Given the description of an element on the screen output the (x, y) to click on. 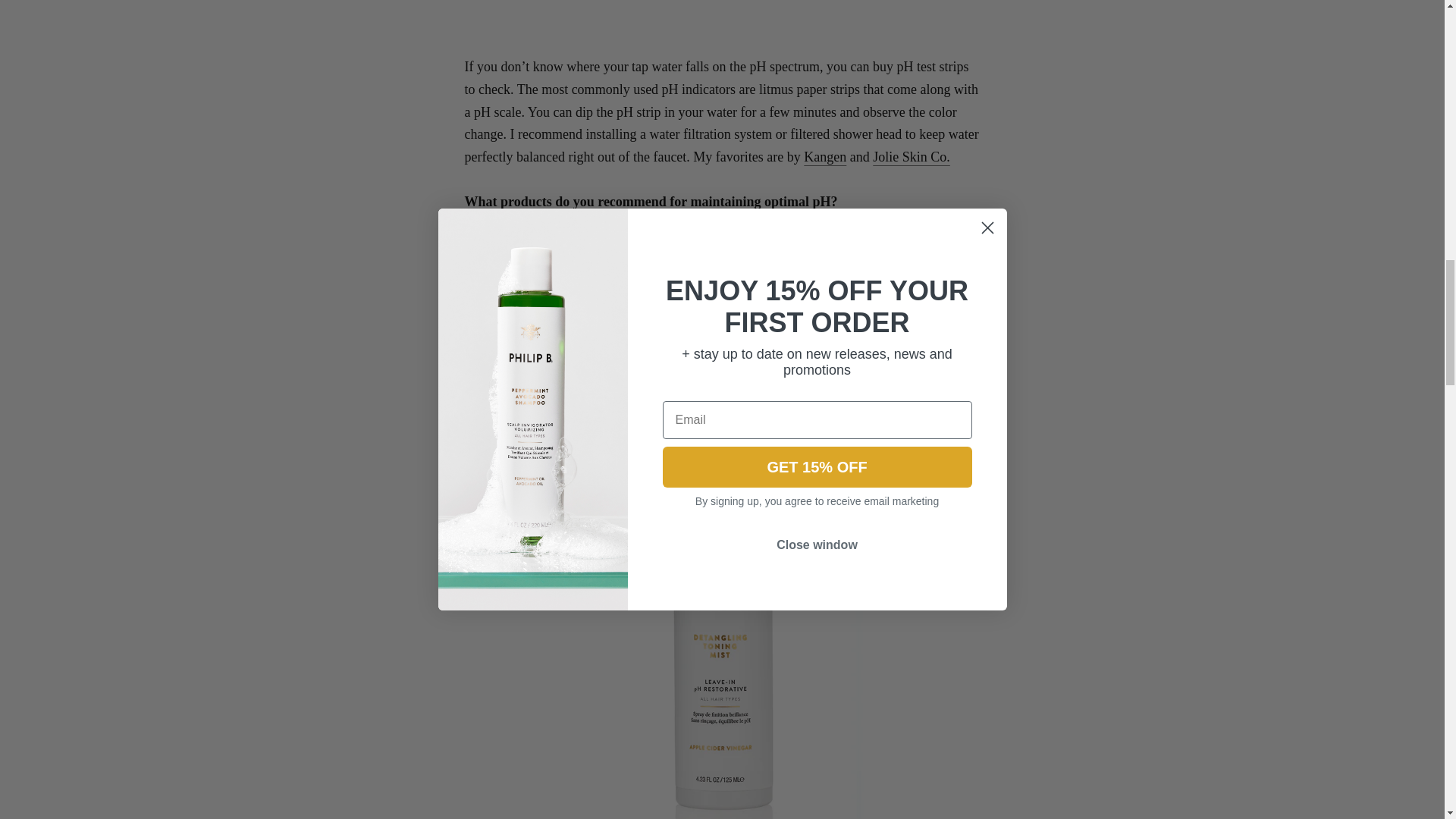
YouTube video player (721, 12)
